Given the description of an element on the screen output the (x, y) to click on. 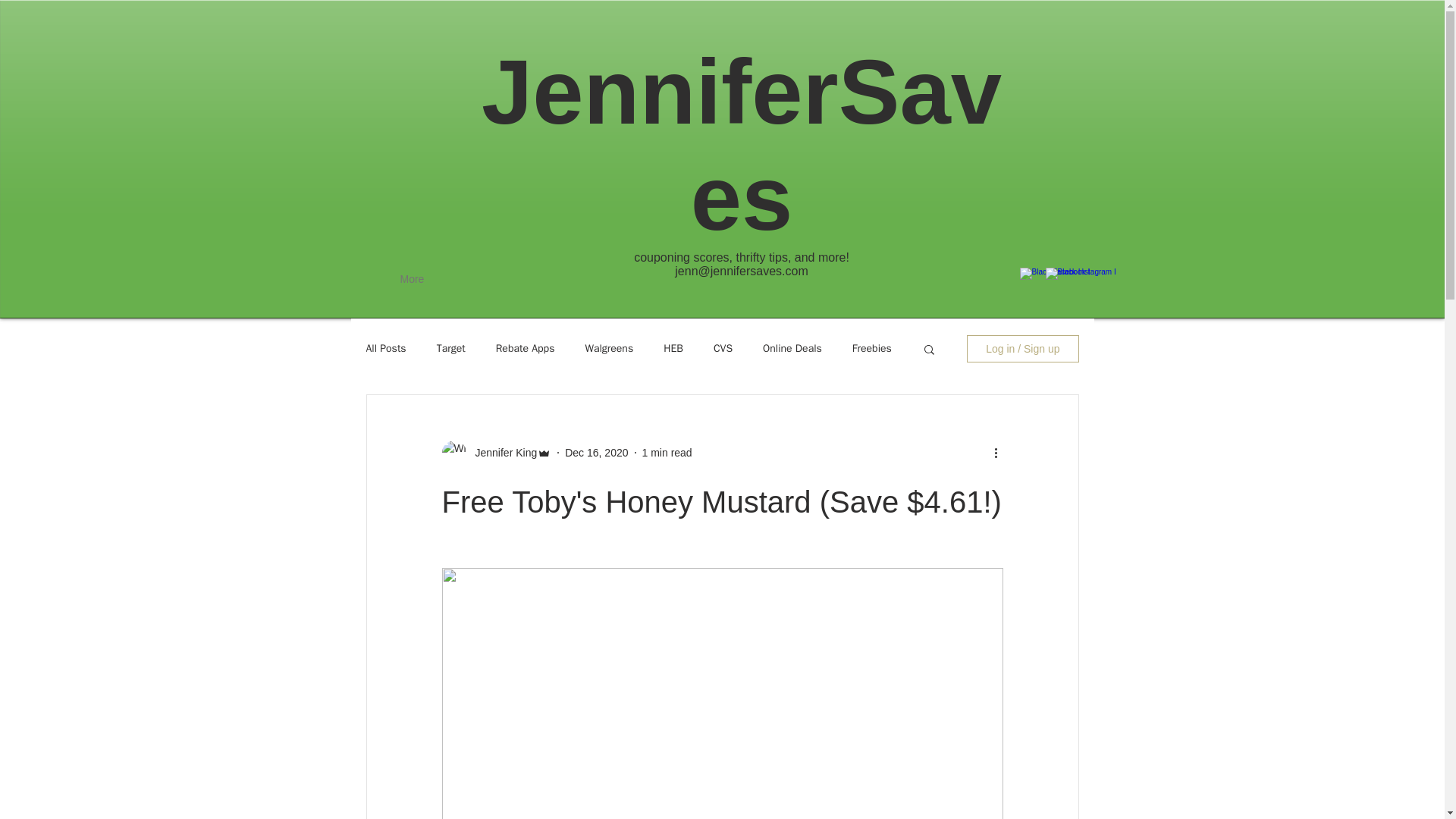
HEB (672, 348)
All Posts (385, 348)
Dec 16, 2020 (595, 451)
Freebies (871, 348)
1 min read (667, 451)
Online Deals (792, 348)
Walgreens (609, 348)
CVS (722, 348)
Jennifer King (501, 452)
Target (450, 348)
Rebate Apps (525, 348)
JenniferSaves (741, 144)
